Given the description of an element on the screen output the (x, y) to click on. 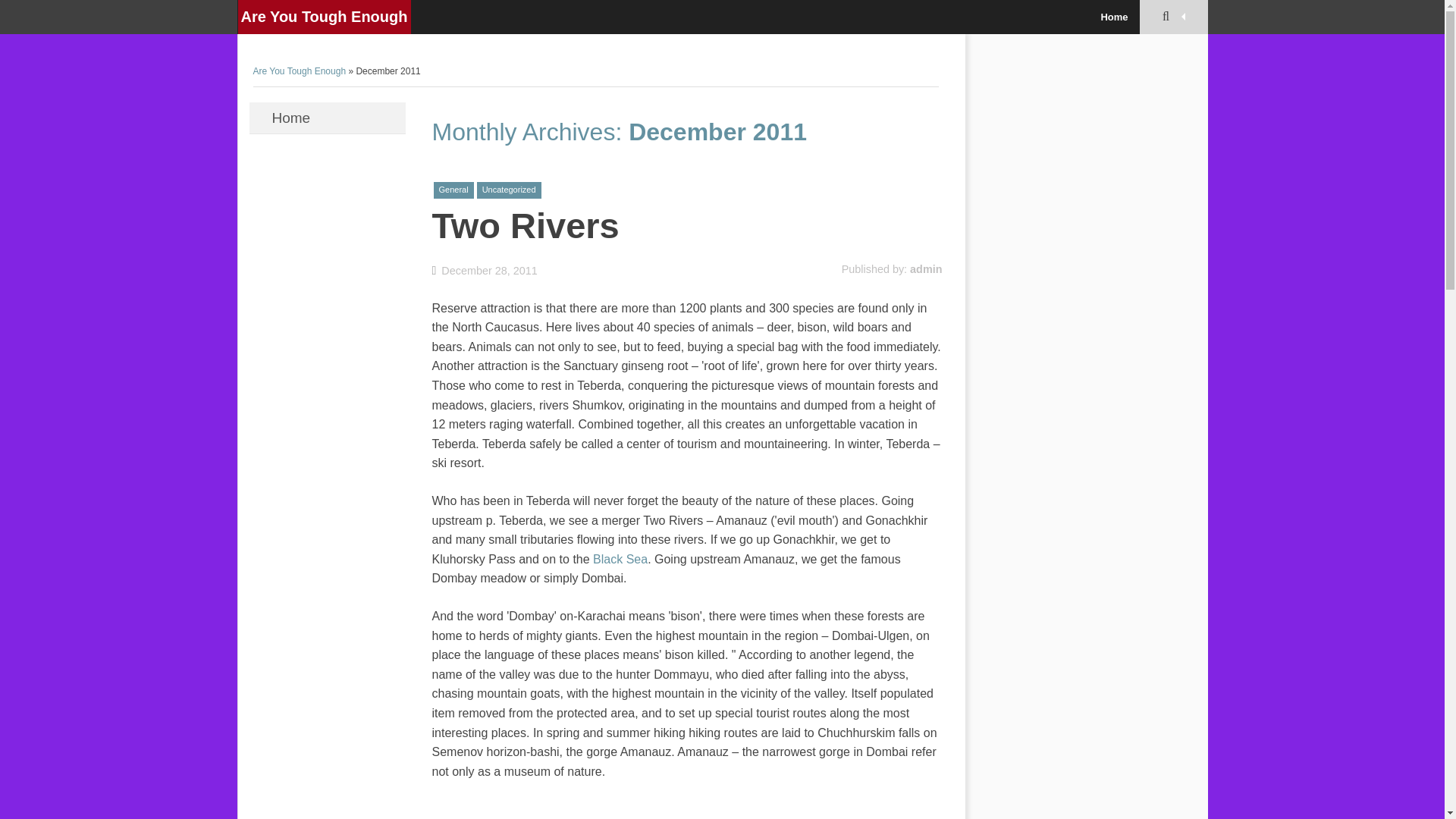
Posts by admin (926, 268)
General (453, 190)
Are You Tough Enough (299, 71)
Skip to content (288, 112)
Uncategorized (509, 190)
Skip to content (288, 112)
9:15 pm (484, 269)
Are You Tough Enough (324, 17)
Two Rivers (526, 225)
December 28, 2011 (484, 269)
